Given the description of an element on the screen output the (x, y) to click on. 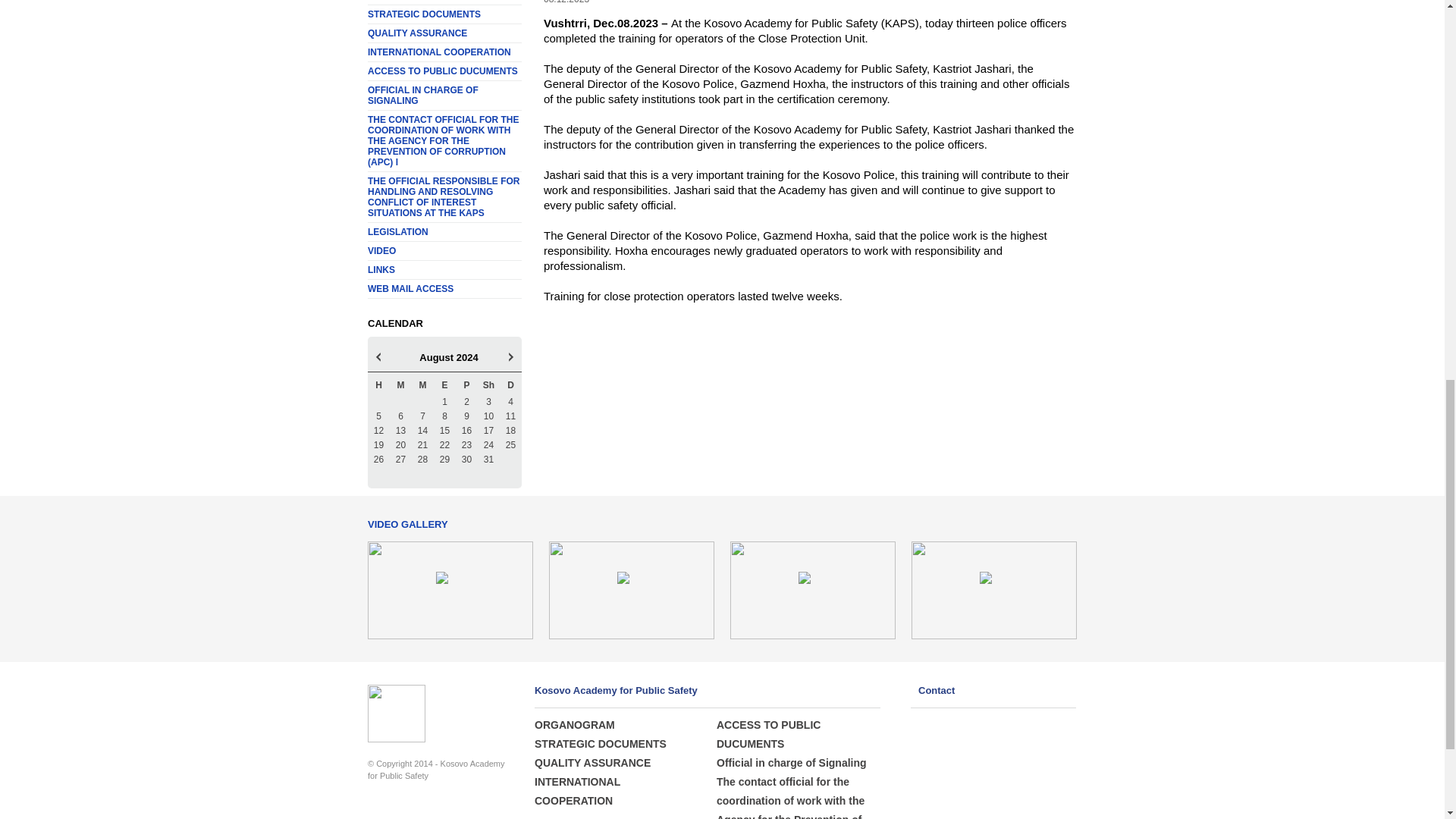
ORGANOGRAM (444, 2)
